Given the description of an element on the screen output the (x, y) to click on. 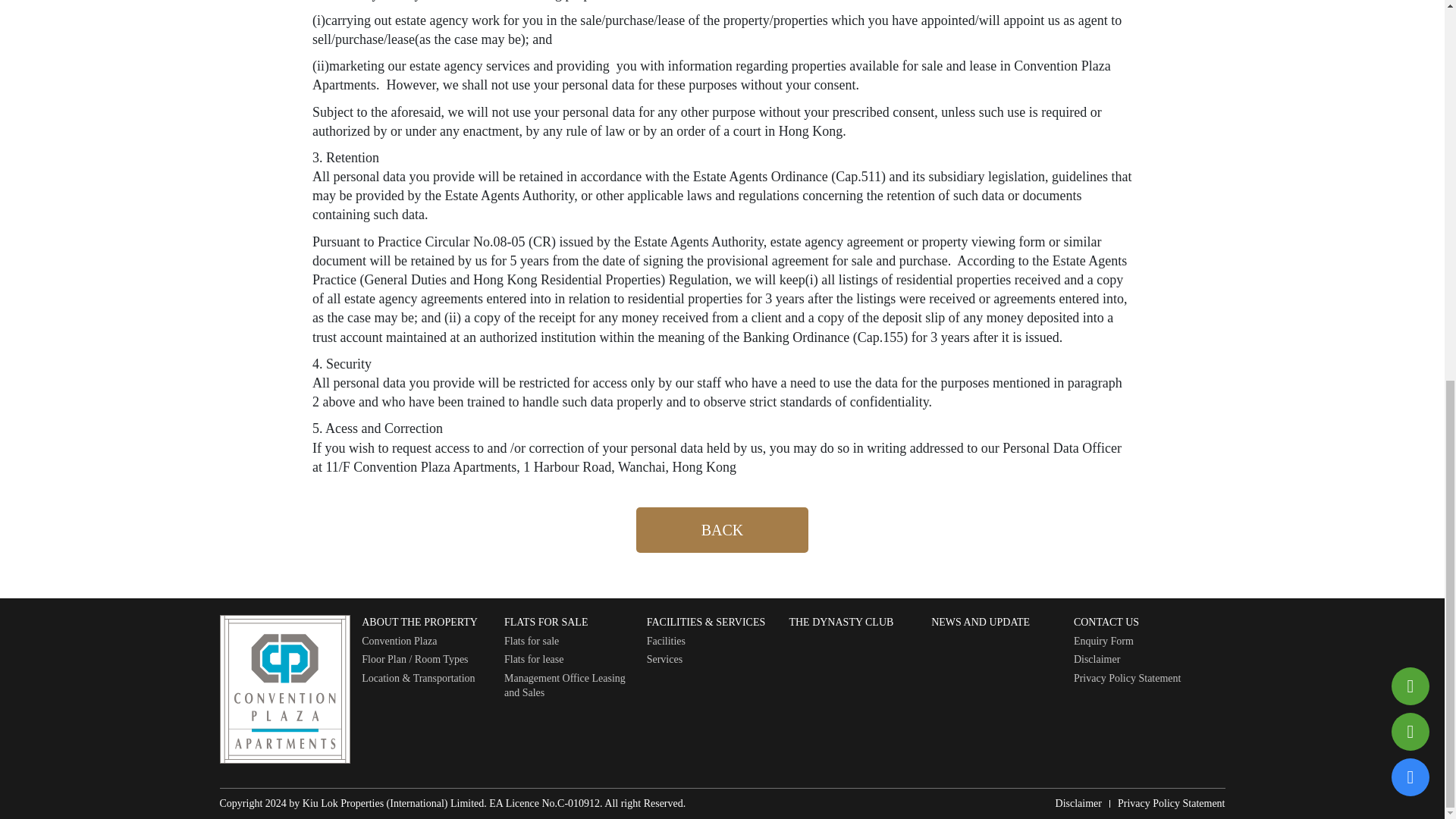
ABOUT THE PROPERTY (427, 622)
Convention Plaza (427, 641)
Enquiry Form (1139, 641)
Privacy Policy Statement (1139, 678)
Management Office Leasing and Sales (568, 685)
Disclaimer (1139, 659)
FLATS FOR SALE (568, 622)
Privacy Policy Statement (1171, 803)
BACK (722, 529)
Services (711, 659)
